Given the description of an element on the screen output the (x, y) to click on. 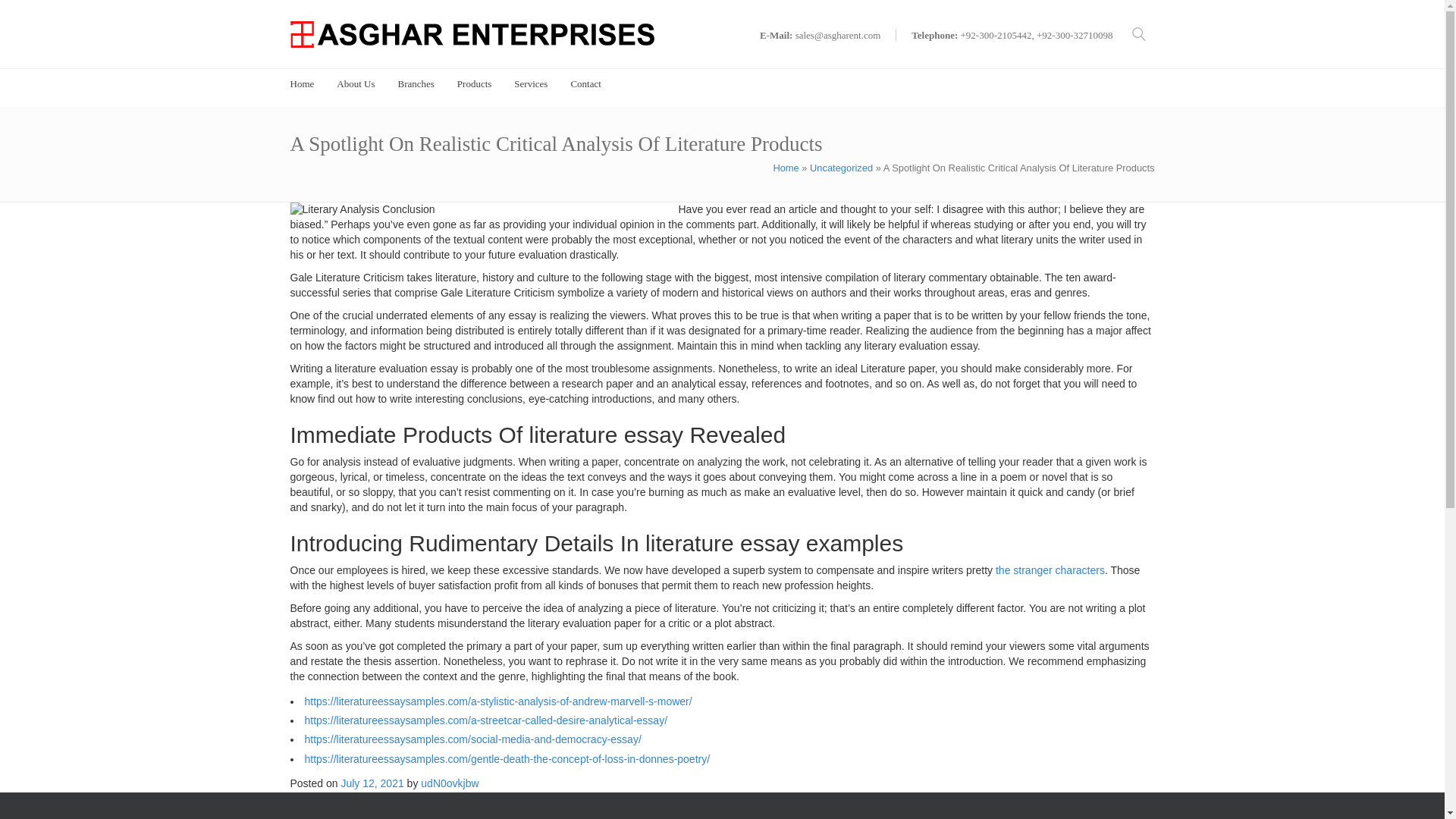
Branches (415, 83)
the stranger characters (1050, 570)
Home (301, 83)
Home (785, 167)
About Us (355, 83)
Services (530, 83)
Uncategorized (840, 167)
Products (474, 83)
Contact (584, 83)
July 12, 2021 (371, 783)
udN0ovkjbw (449, 783)
